Given the description of an element on the screen output the (x, y) to click on. 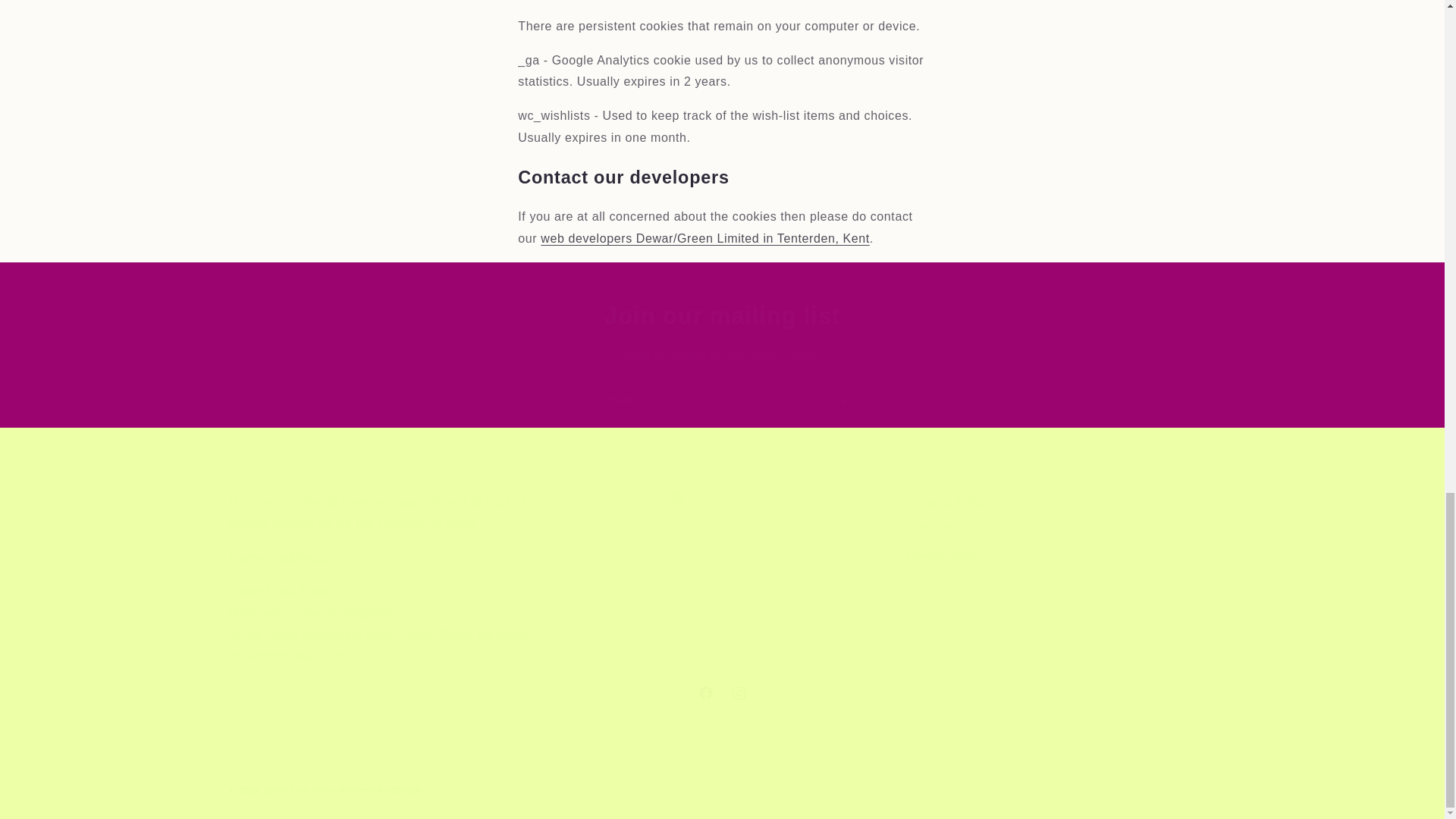
Email (721, 693)
Join our mailing list (722, 400)
Sign up below for the latest news. (1061, 580)
